Given the description of an element on the screen output the (x, y) to click on. 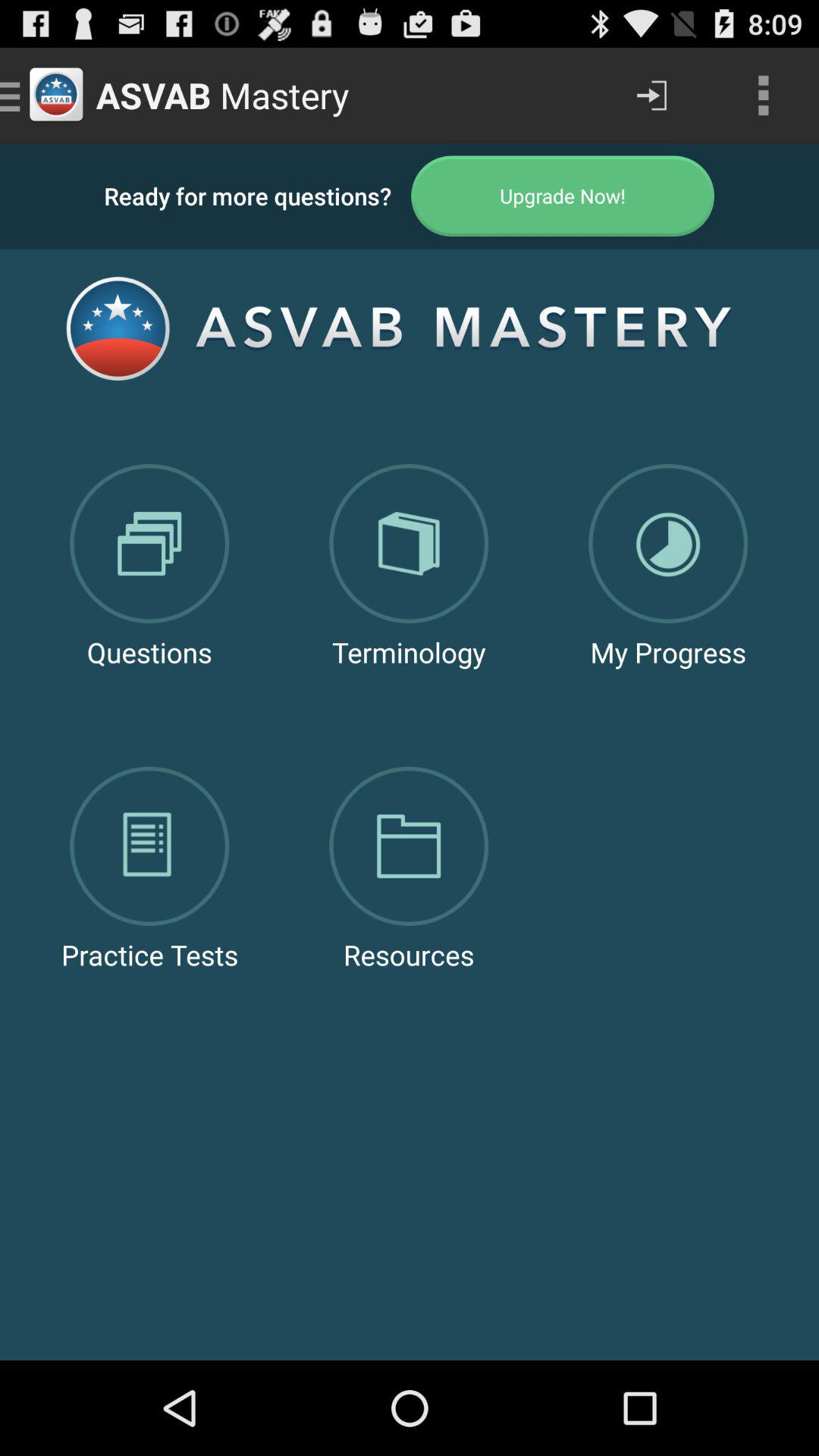
click the app to the right of asvab mastery app (651, 95)
